Given the description of an element on the screen output the (x, y) to click on. 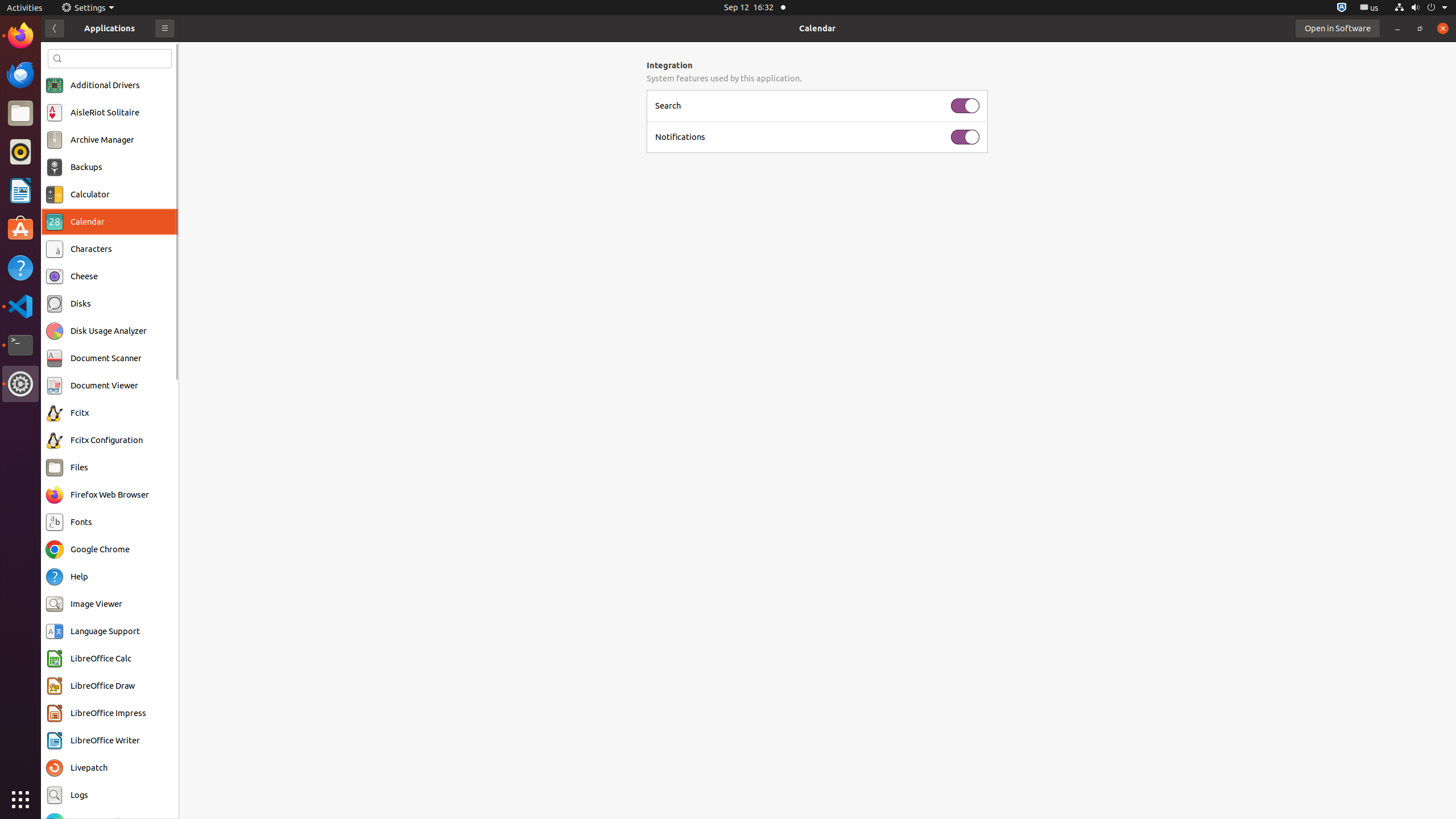
Characters Element type: label (91, 249)
